Given the description of an element on the screen output the (x, y) to click on. 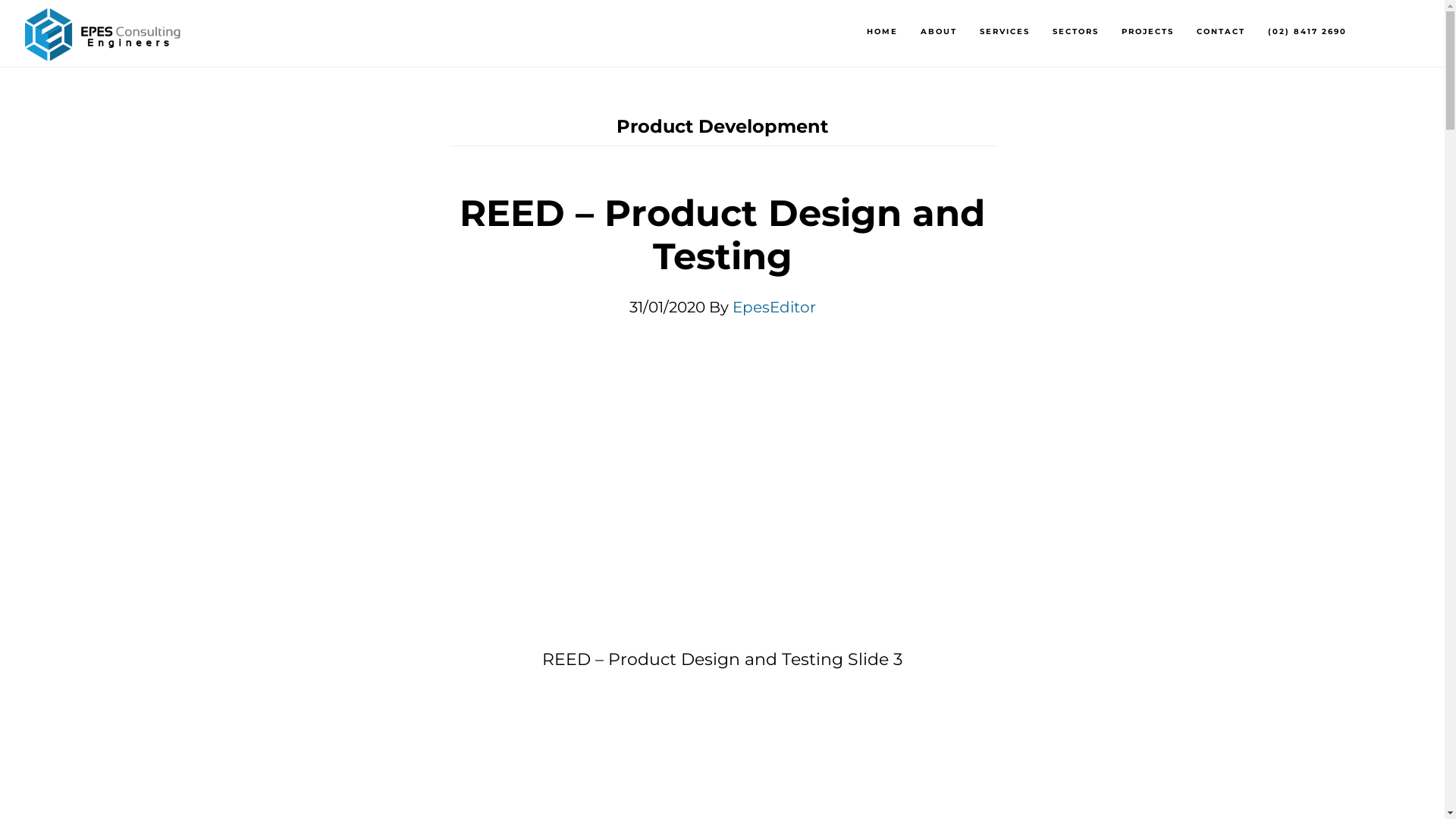
EPES CONSULTING ENGINEERS Element type: text (103, 40)
SERVICES Element type: text (1004, 31)
HOME Element type: text (881, 31)
Skip to main content Element type: text (0, 0)
PROJECTS Element type: text (1147, 31)
(02) 8417 2690 Element type: text (1306, 31)
SECTORS Element type: text (1075, 31)
CONTACT Element type: text (1220, 31)
ABOUT Element type: text (938, 31)
EpesEditor Element type: text (773, 307)
